Given the description of an element on the screen output the (x, y) to click on. 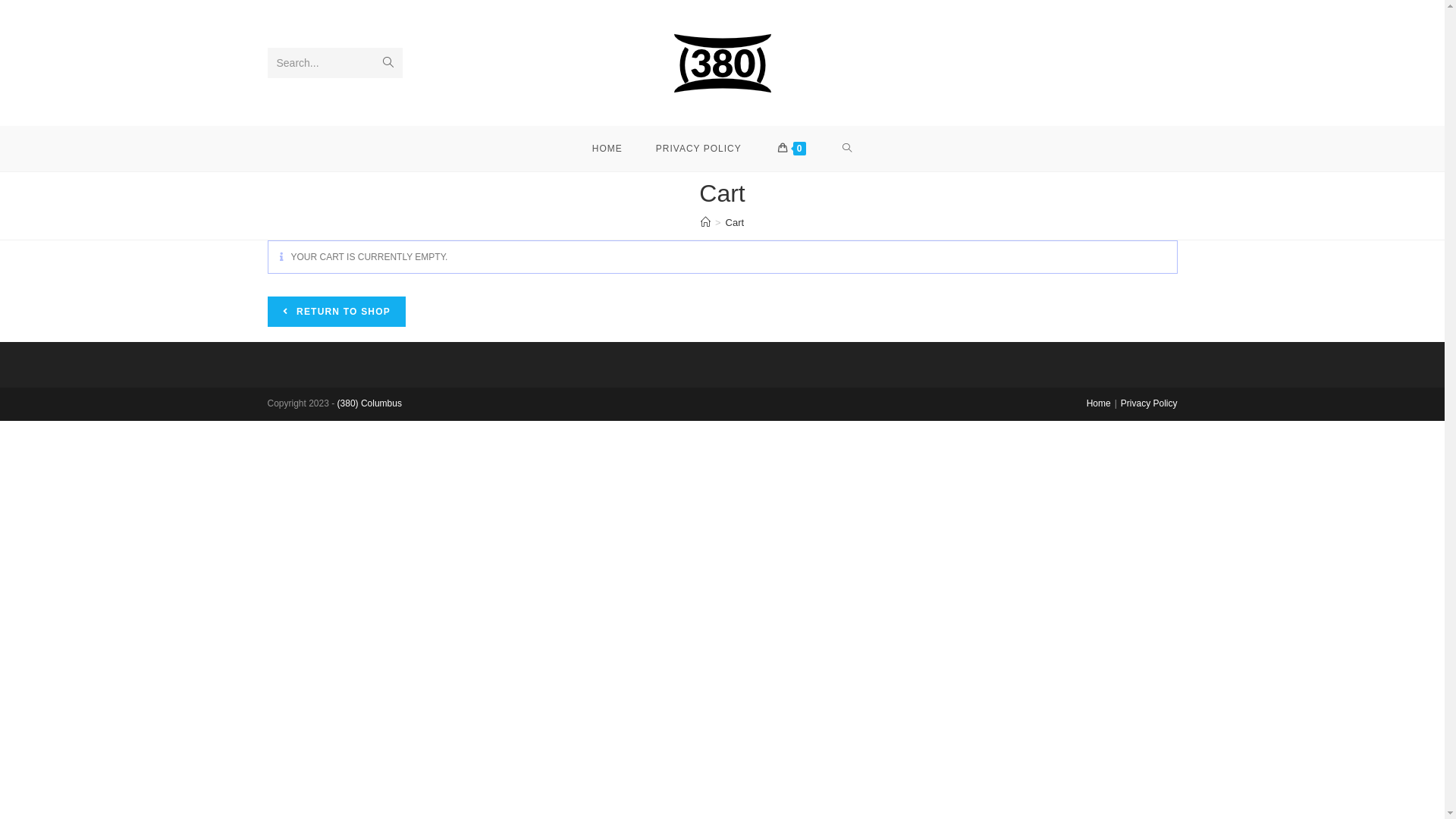
Privacy Policy Element type: text (1148, 403)
0 Element type: text (792, 148)
HOME Element type: text (607, 148)
(380) Columbus Element type: text (369, 403)
Home Element type: text (1098, 403)
Cart Element type: text (734, 222)
PRIVACY POLICY Element type: text (698, 148)
RETURN TO SHOP Element type: text (335, 311)
